Given the description of an element on the screen output the (x, y) to click on. 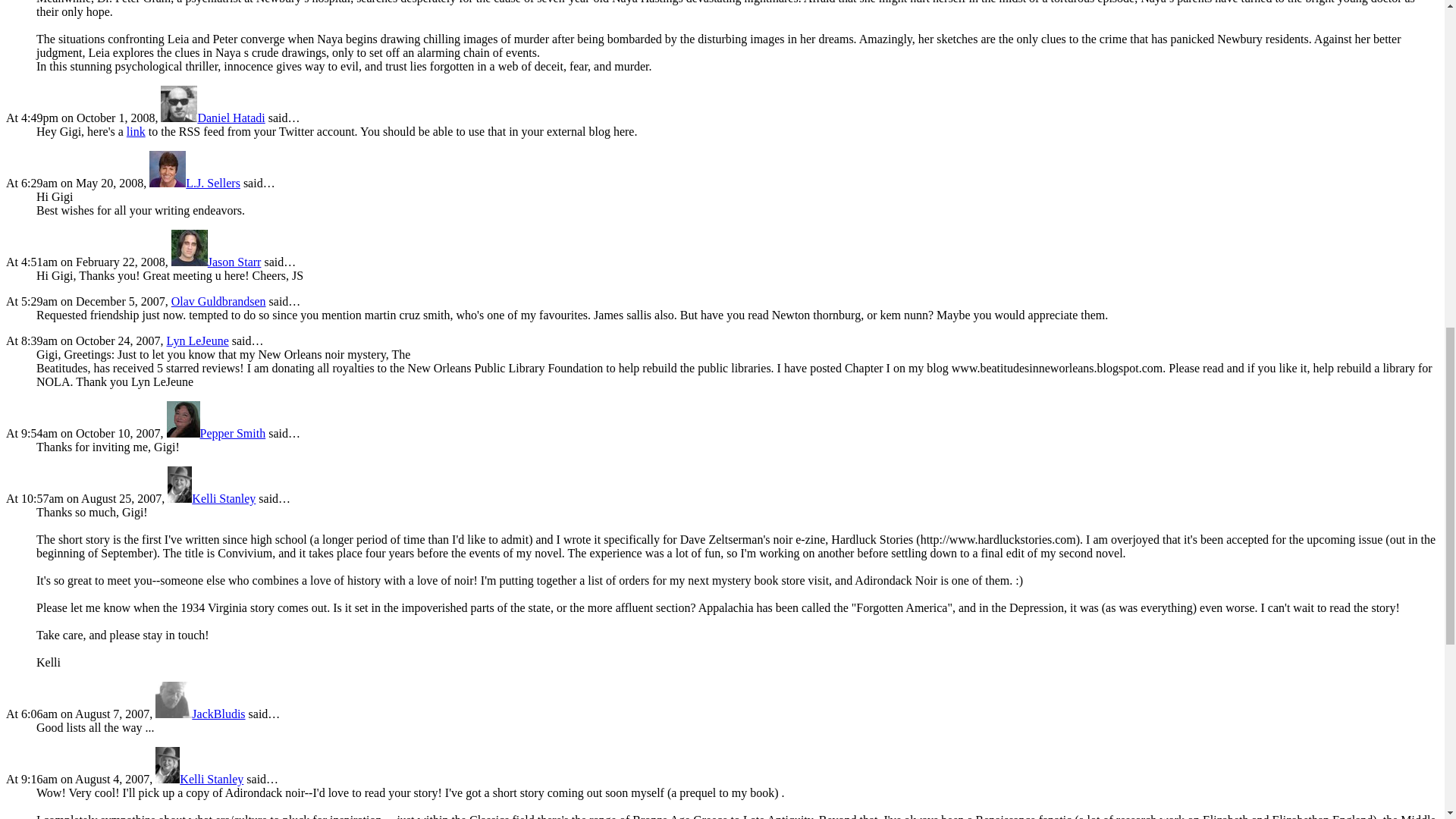
L.J. Sellers (194, 182)
Jason Starr (216, 261)
Lyn LeJeune (197, 340)
Kelli Stanley (199, 779)
JackBludis (199, 713)
link (135, 131)
Olav Guldbrandsen (218, 300)
Pepper Smith (216, 432)
Kelli Stanley (211, 498)
Daniel Hatadi (212, 117)
